Given the description of an element on the screen output the (x, y) to click on. 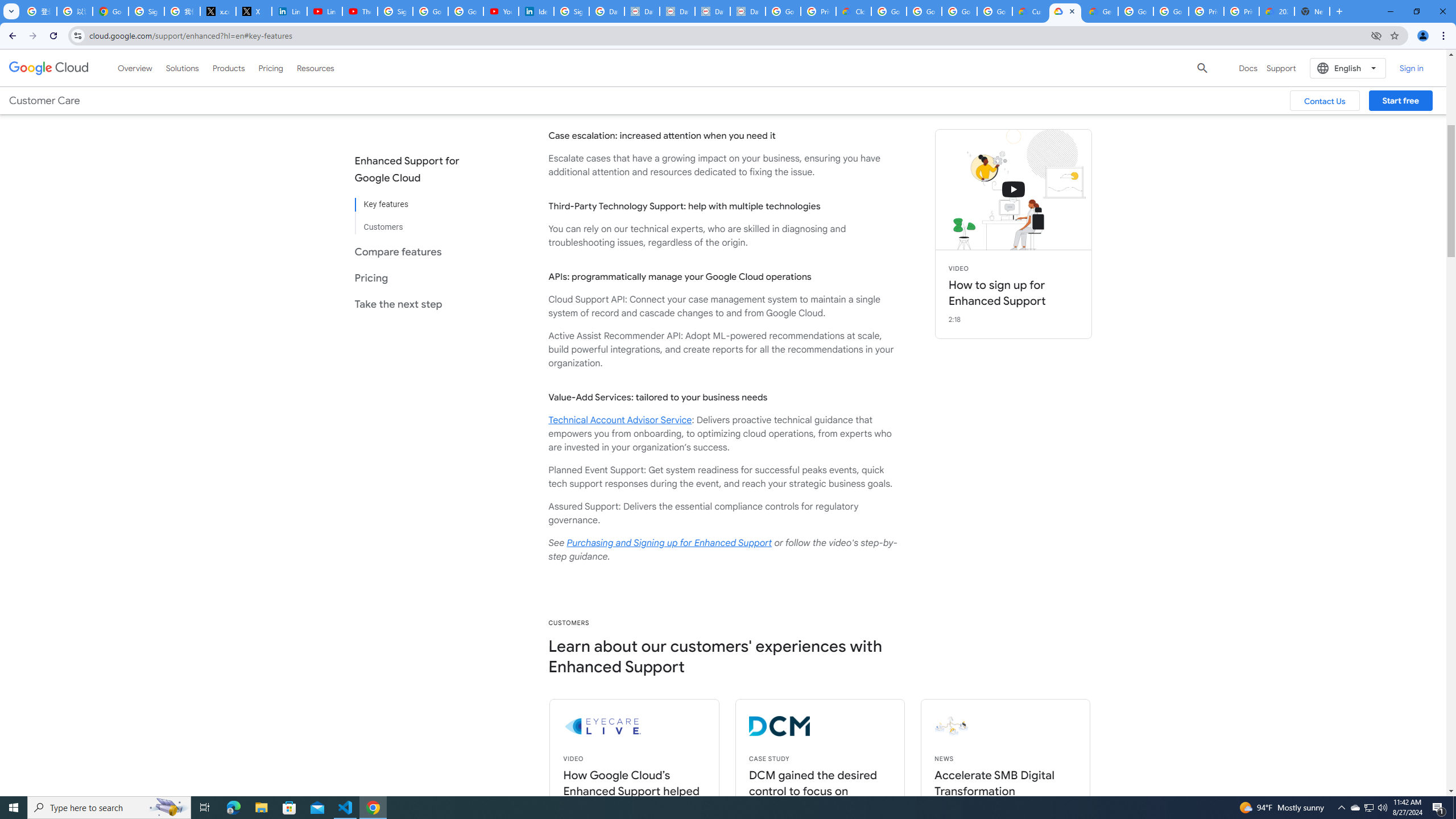
Sign in - Google Accounts (145, 11)
Enhanced Support | Google Cloud (1064, 11)
Customer Care | Google Cloud (1029, 11)
Pricing (270, 67)
Solutions (181, 67)
Compare features (416, 251)
